Given the description of an element on the screen output the (x, y) to click on. 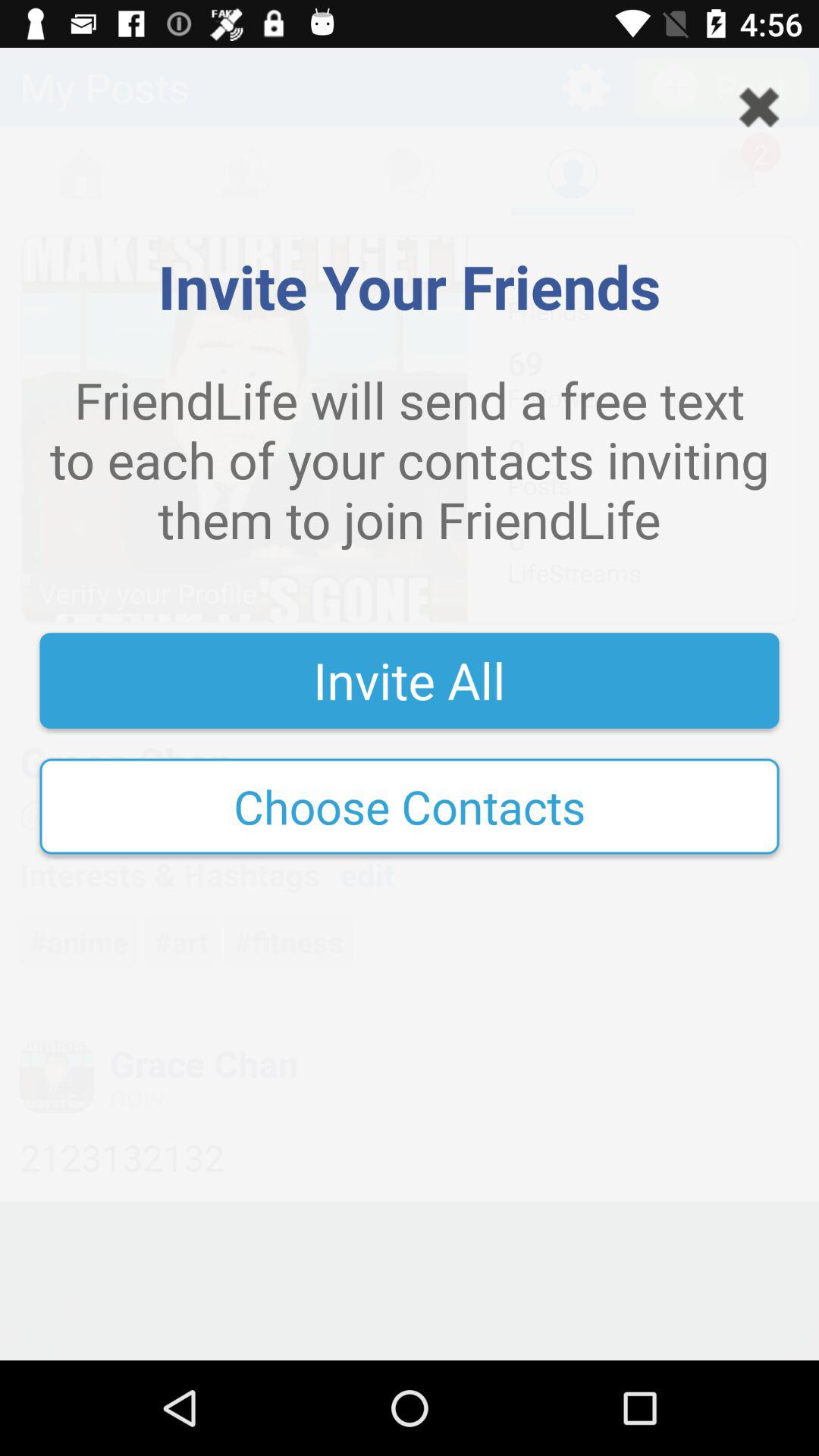
open the icon at the top right corner (759, 107)
